Given the description of an element on the screen output the (x, y) to click on. 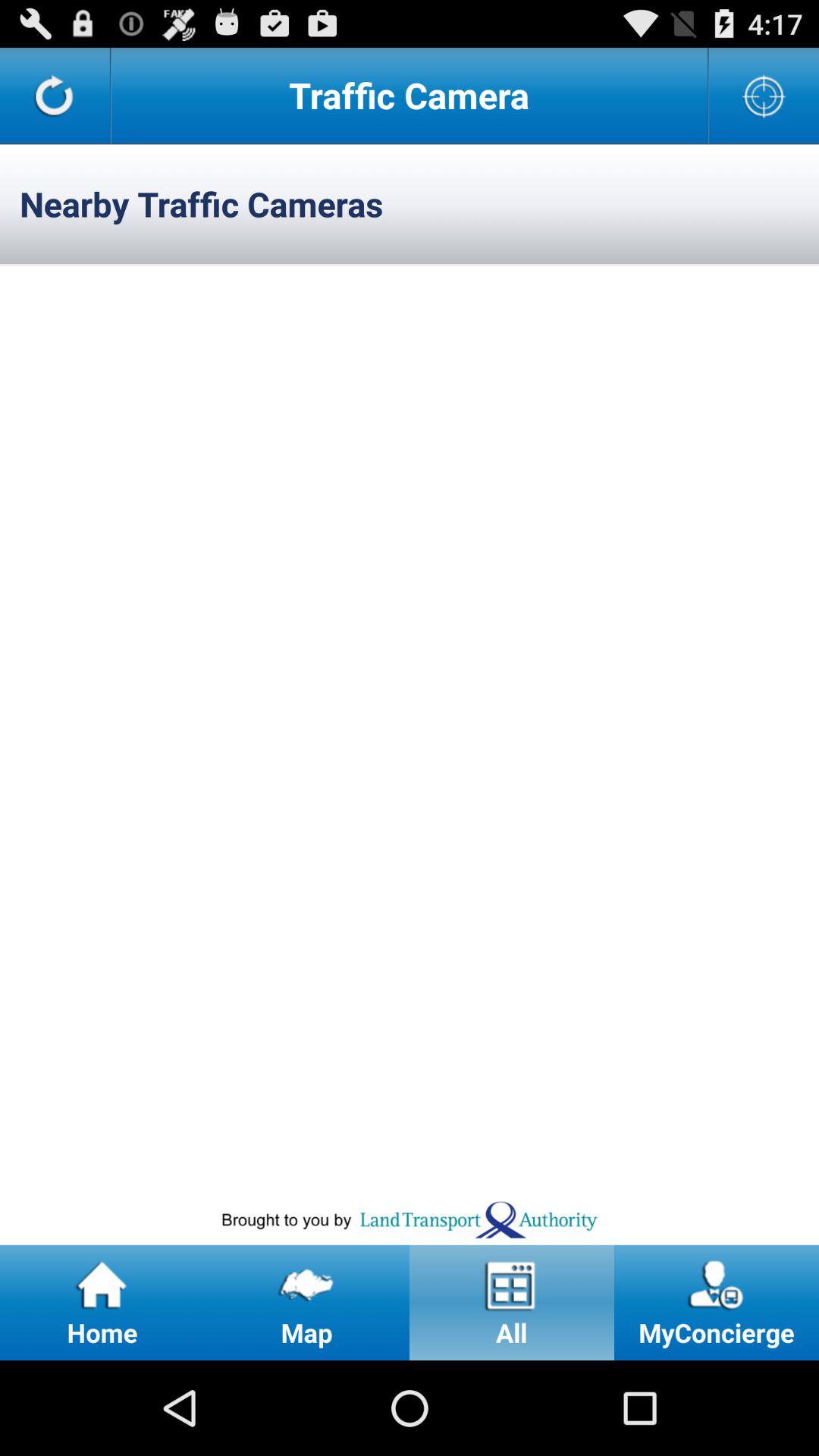
scanner (764, 95)
